Given the description of an element on the screen output the (x, y) to click on. 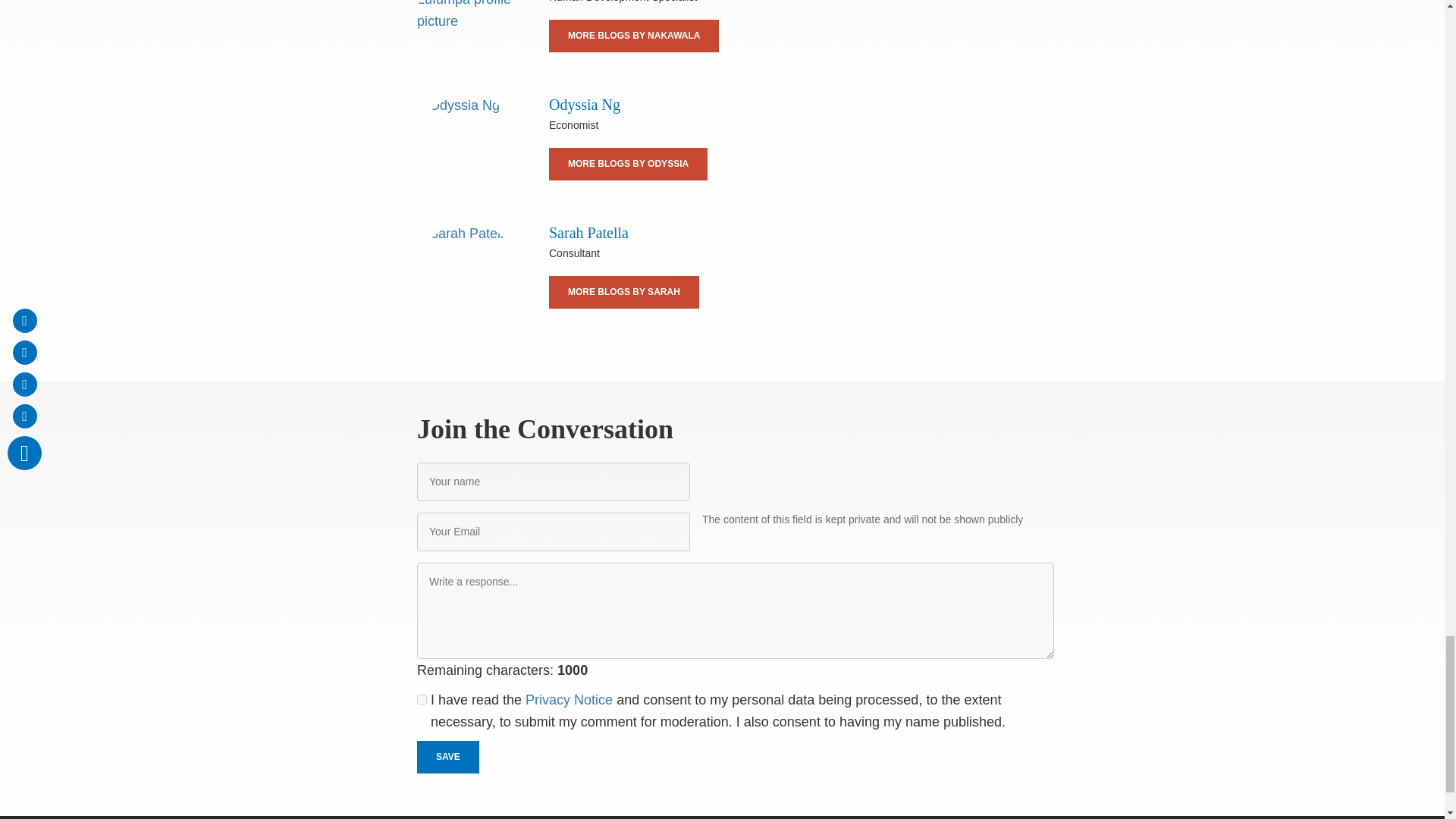
Nakawala Lufumpa profile picture (467, 33)
Odyssia Ng (467, 145)
1 (421, 699)
Sarah Patella (467, 273)
Your name (553, 481)
